Given the description of an element on the screen output the (x, y) to click on. 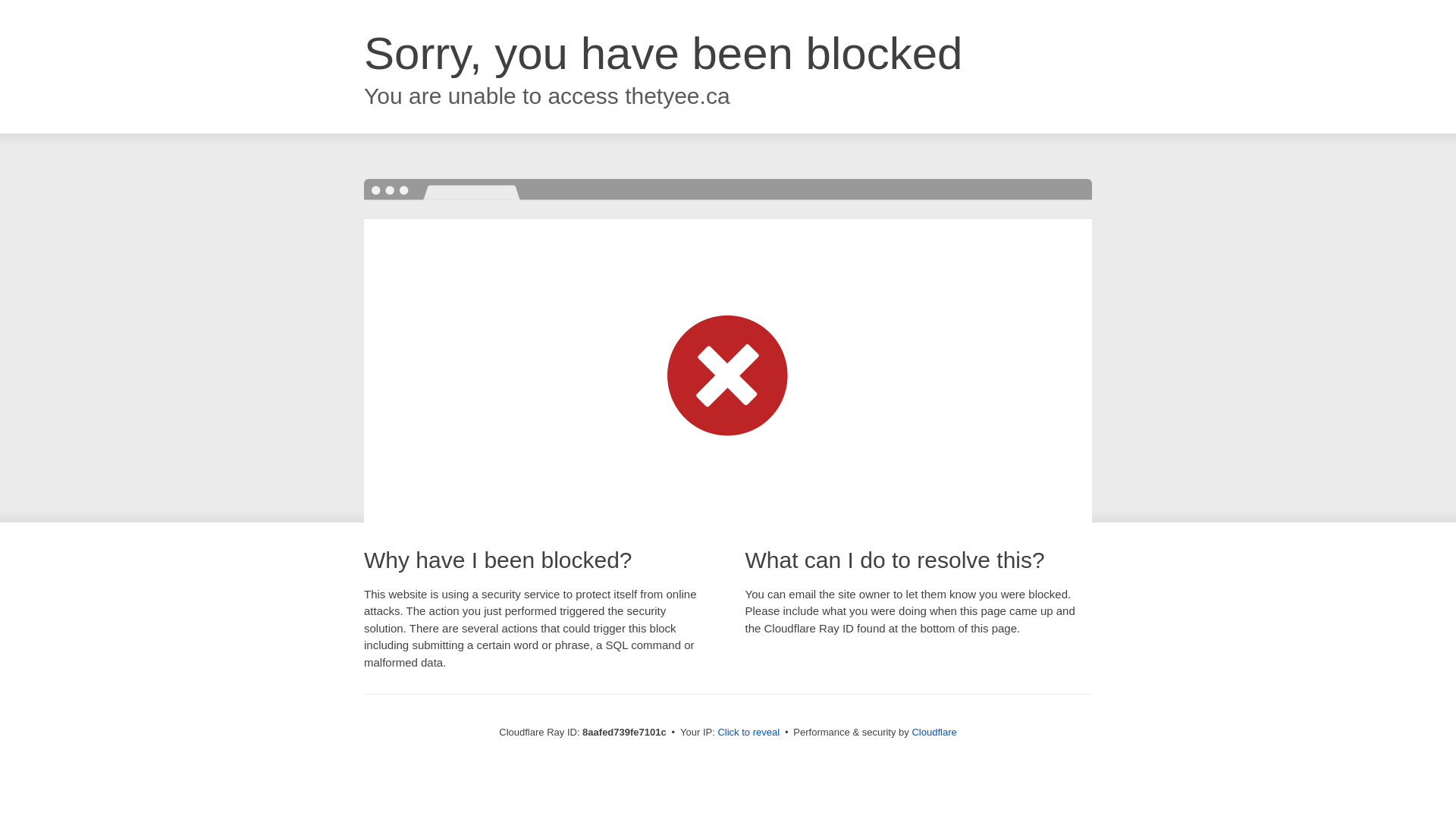
Cloudflare (933, 731)
Click to reveal (747, 732)
